Given the description of an element on the screen output the (x, y) to click on. 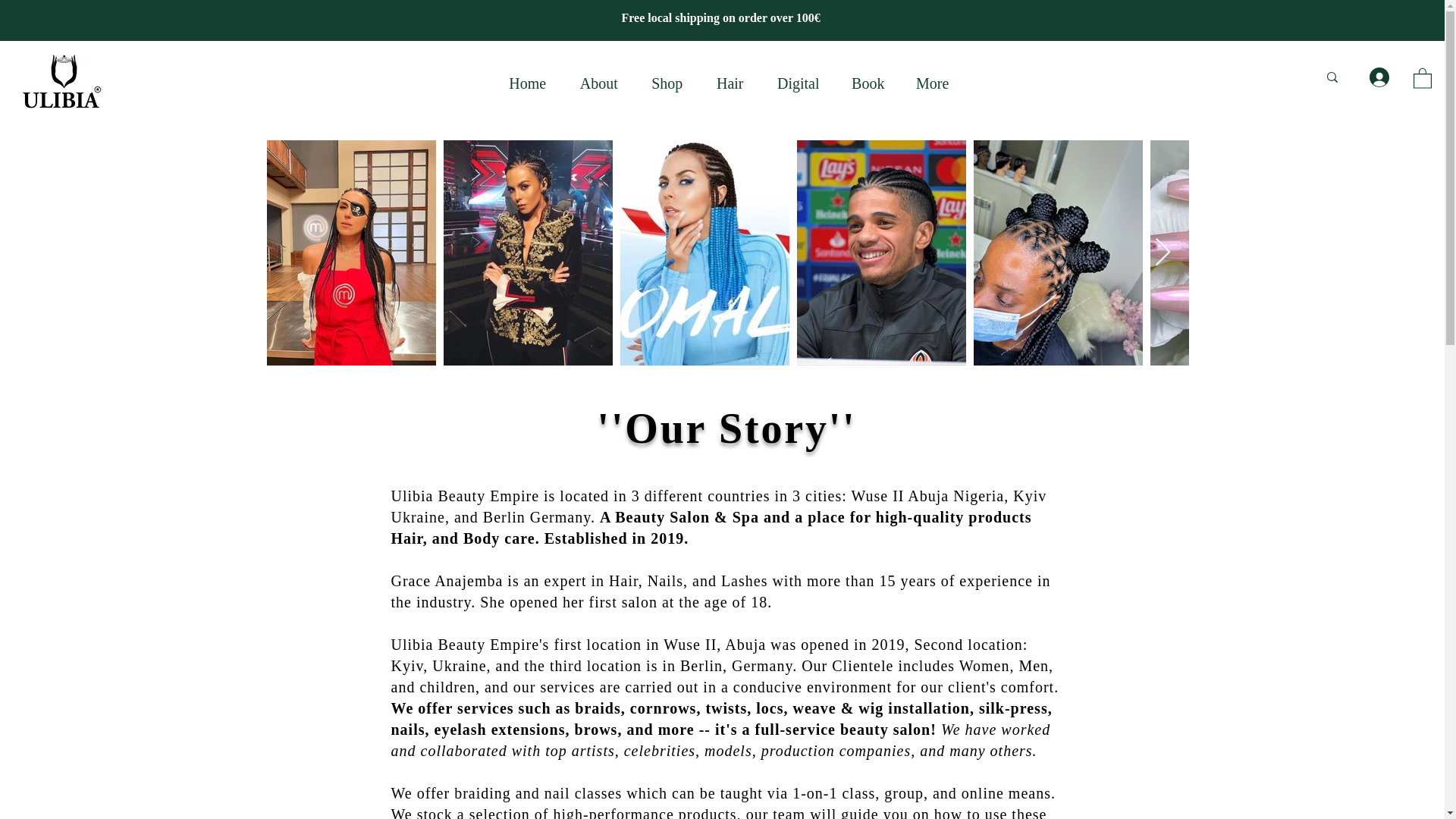
Home (527, 82)
About (598, 82)
Digital (797, 82)
Hair (730, 82)
Log In (1375, 77)
Shop (667, 82)
Book (867, 82)
